Given the description of an element on the screen output the (x, y) to click on. 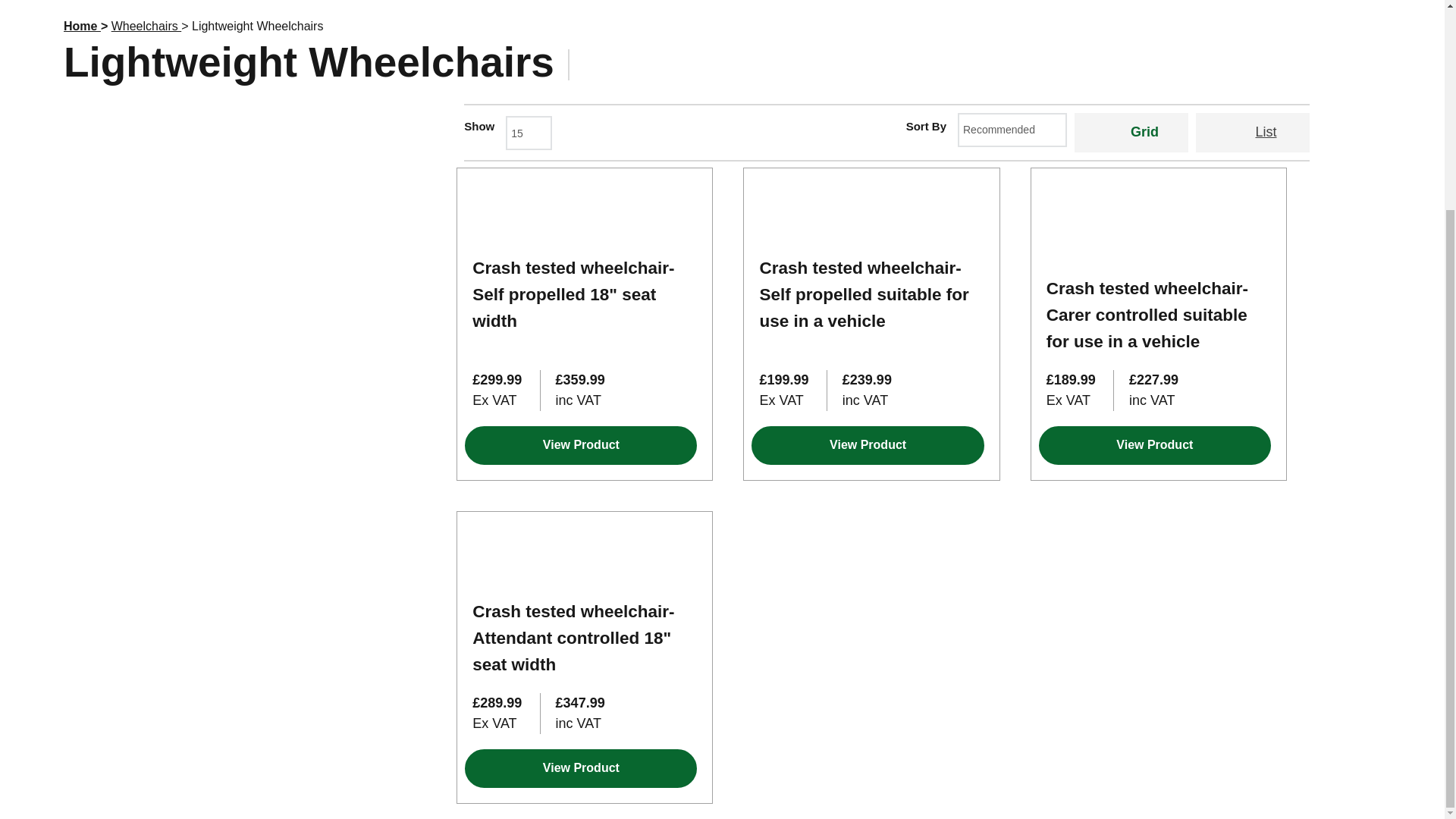
Go to Home Page (82, 25)
Grid (1131, 132)
Chairs (93, 7)
Mobility Scooters (461, 7)
Beds (243, 7)
Stairlifts (165, 7)
Wheelchairs (334, 7)
List (1251, 132)
